Given the description of an element on the screen output the (x, y) to click on. 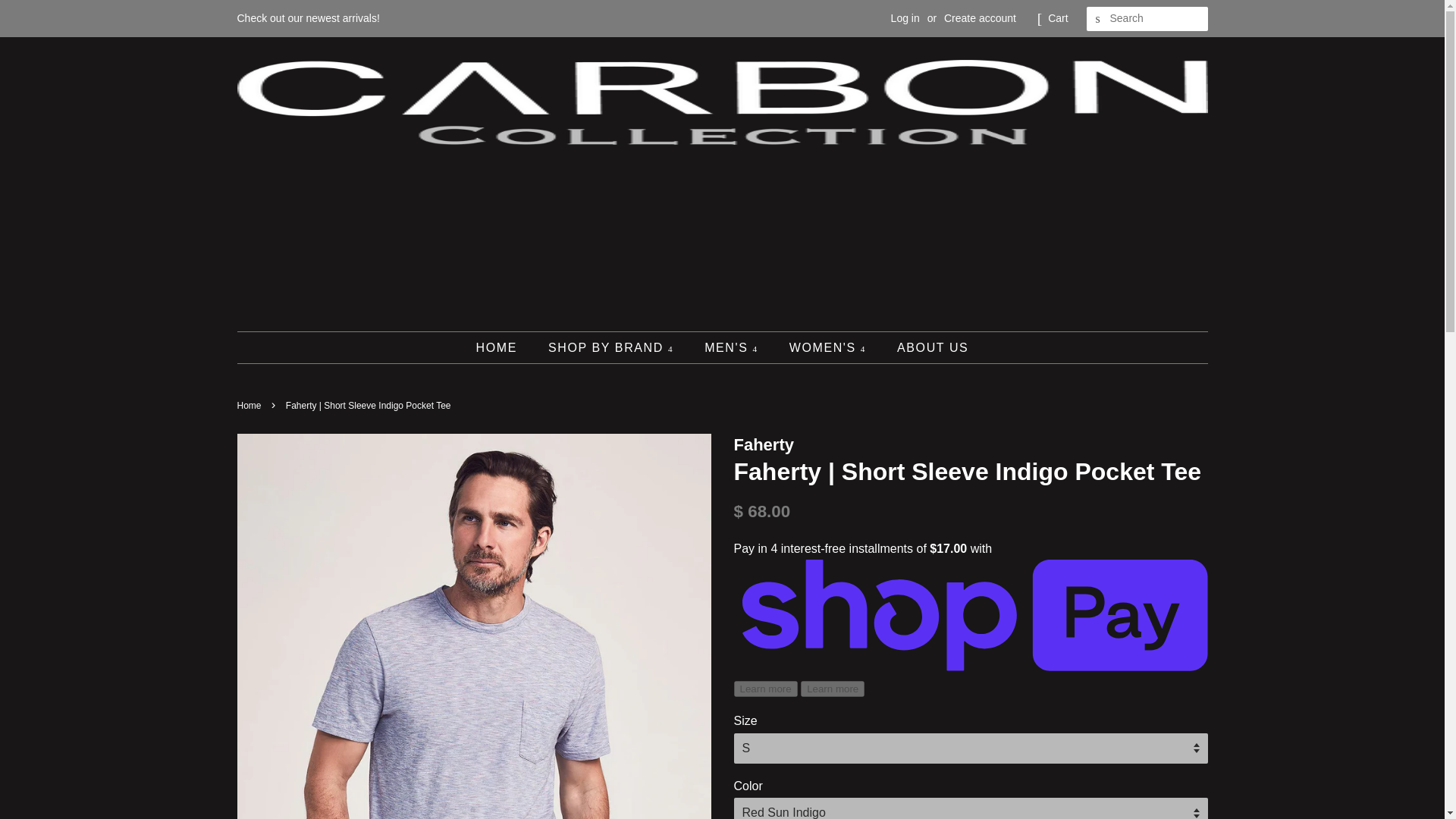
SEARCH (1097, 18)
Create account (979, 18)
Cart (1057, 18)
Back to the frontpage (249, 405)
Log in (905, 18)
Check out our newest arrivals! (306, 18)
